Given the description of an element on the screen output the (x, y) to click on. 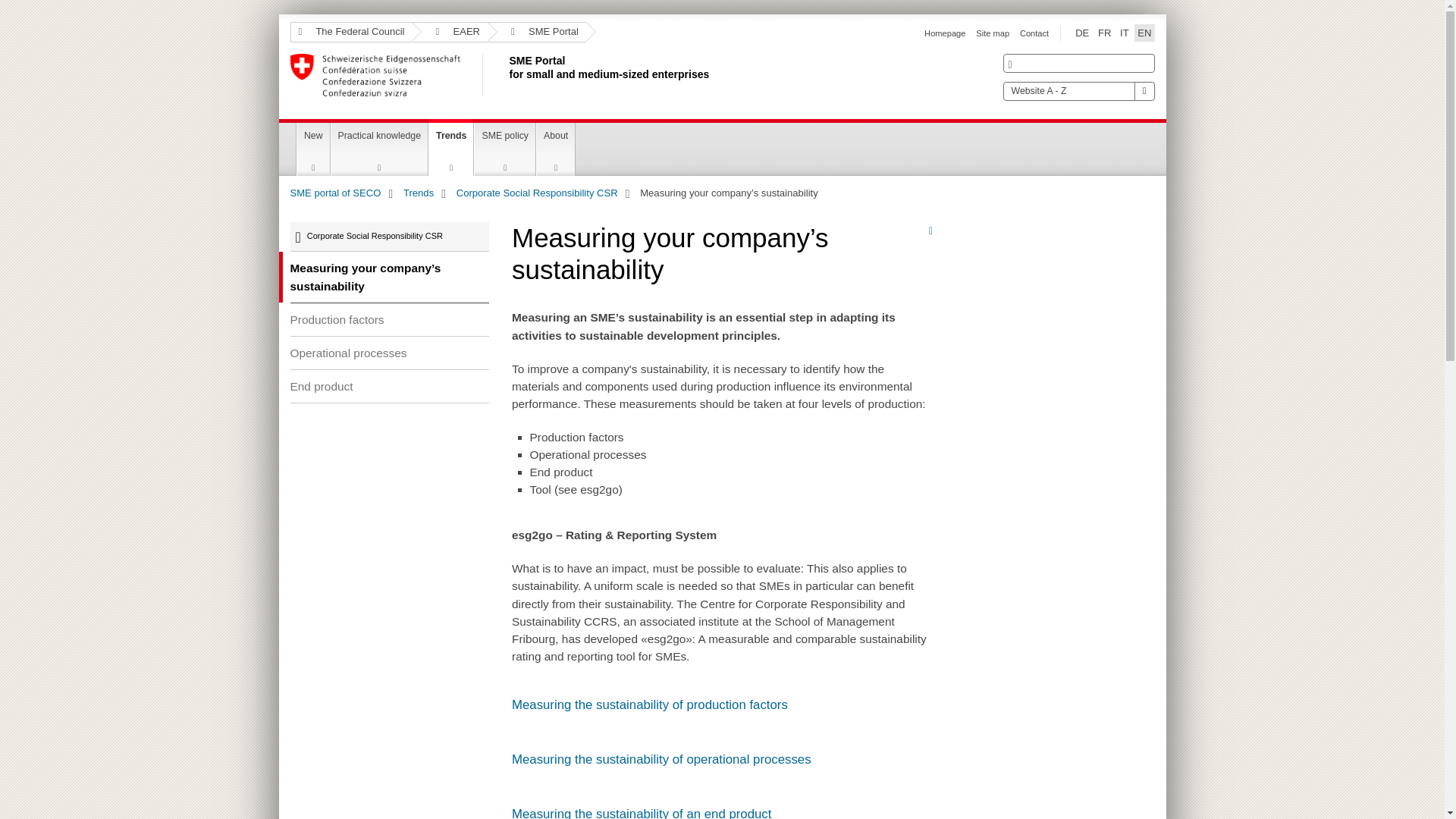
FR (1103, 32)
Homepage (944, 32)
French (505, 75)
Site map (1103, 32)
EAER (992, 32)
The Federal Council (449, 32)
Contact (350, 32)
DE (1034, 32)
SME Portal (1081, 32)
